Given the description of an element on the screen output the (x, y) to click on. 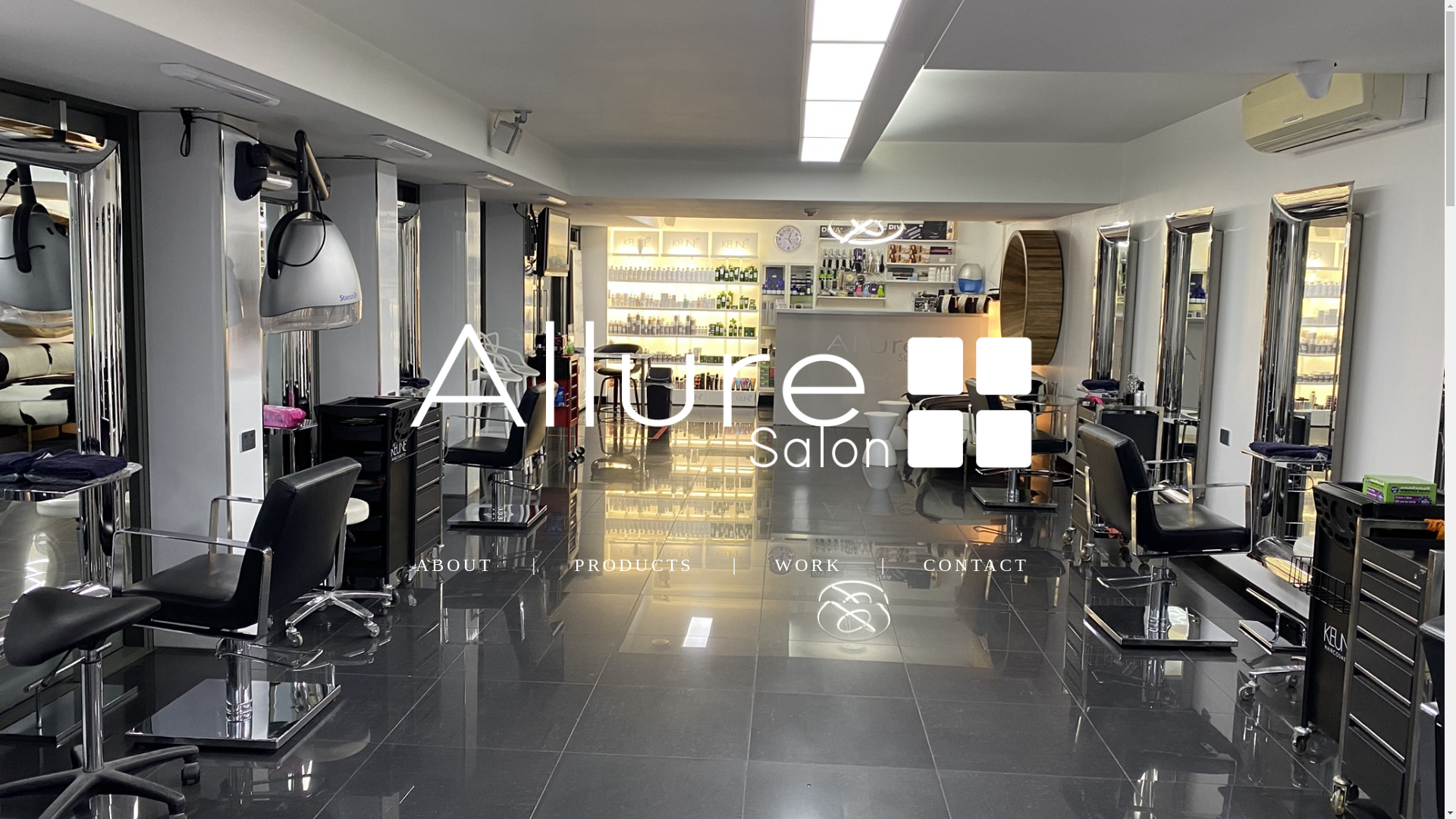
WORK Element type: text (808, 569)
CONTACT Element type: text (976, 569)
ABOUT Element type: text (454, 569)
PRODUCTS Element type: text (633, 569)
